Given the description of an element on the screen output the (x, y) to click on. 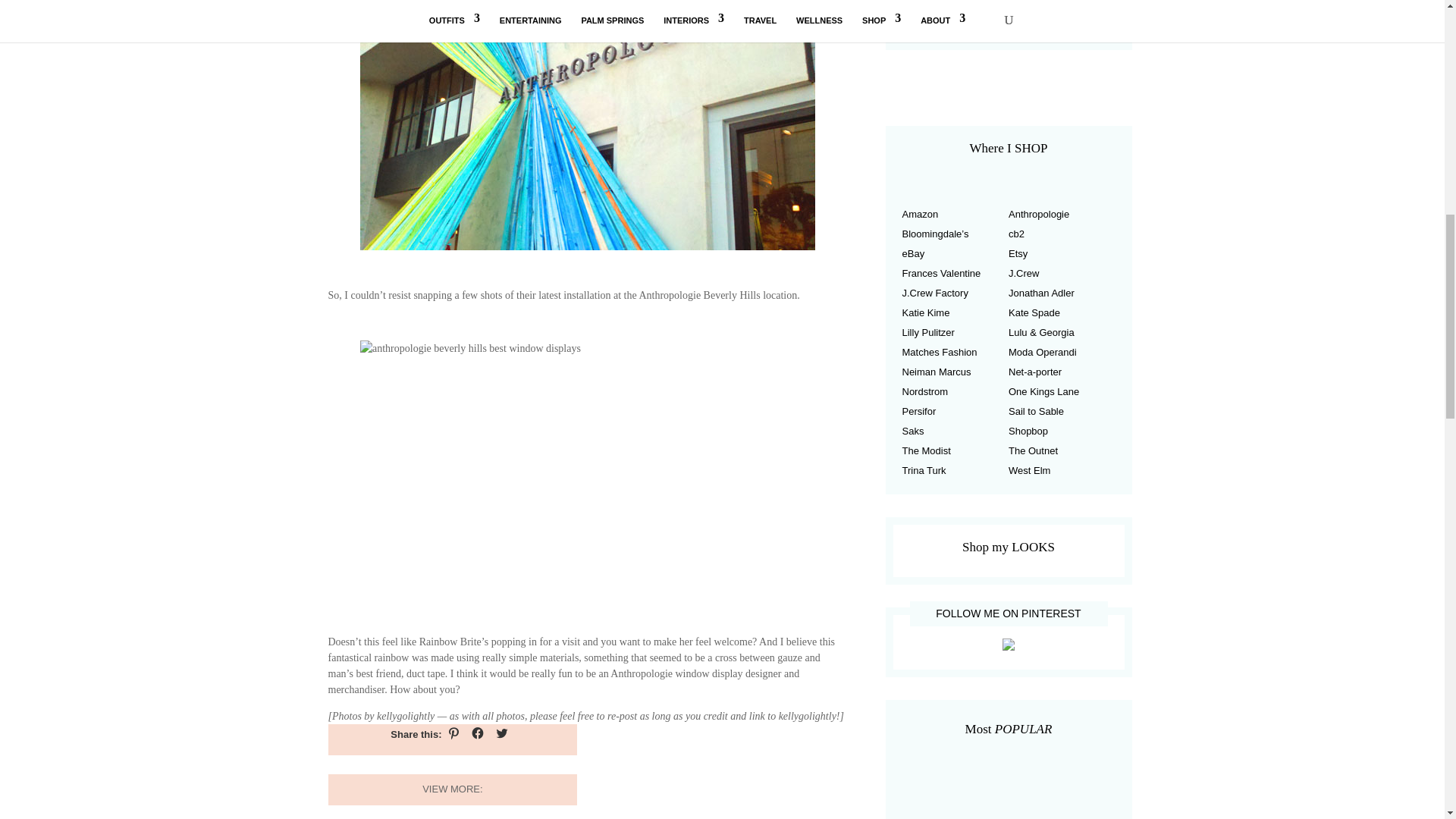
Click to share on Pinterest (453, 733)
Click to share on Twitter (501, 733)
anthropologie beverly hills best window displays (587, 468)
Click to share on Facebook (477, 733)
anthropologie beverly hills best window displays (587, 125)
